Given the description of an element on the screen output the (x, y) to click on. 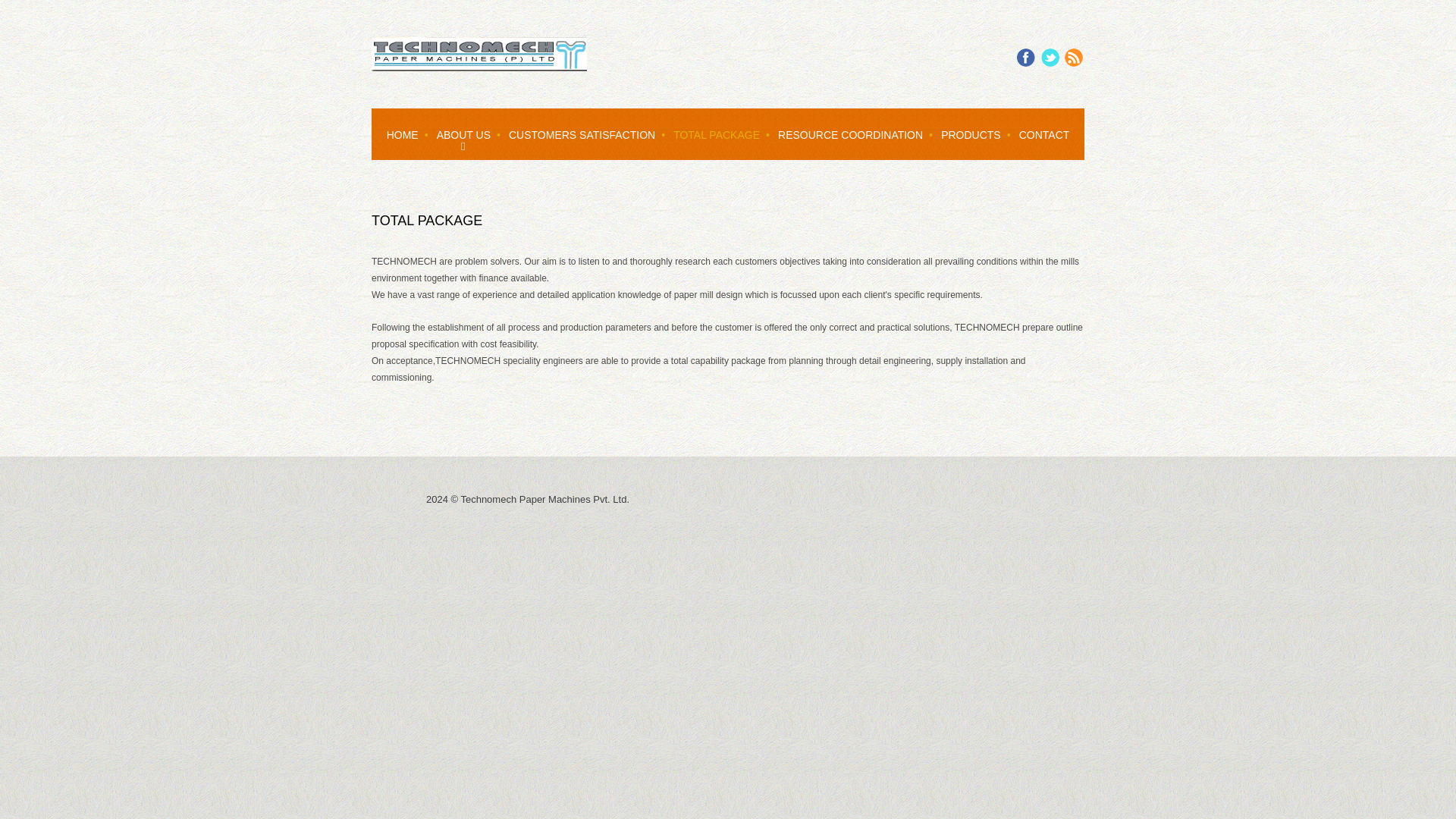
RESOURCE COORDINATION (849, 133)
HOME (402, 133)
PRODUCTS (970, 133)
TOTAL PACKAGE (715, 133)
CONTACT (1044, 133)
CUSTOMERS SATISFACTION (581, 133)
ABOUT US (463, 133)
